Given the description of an element on the screen output the (x, y) to click on. 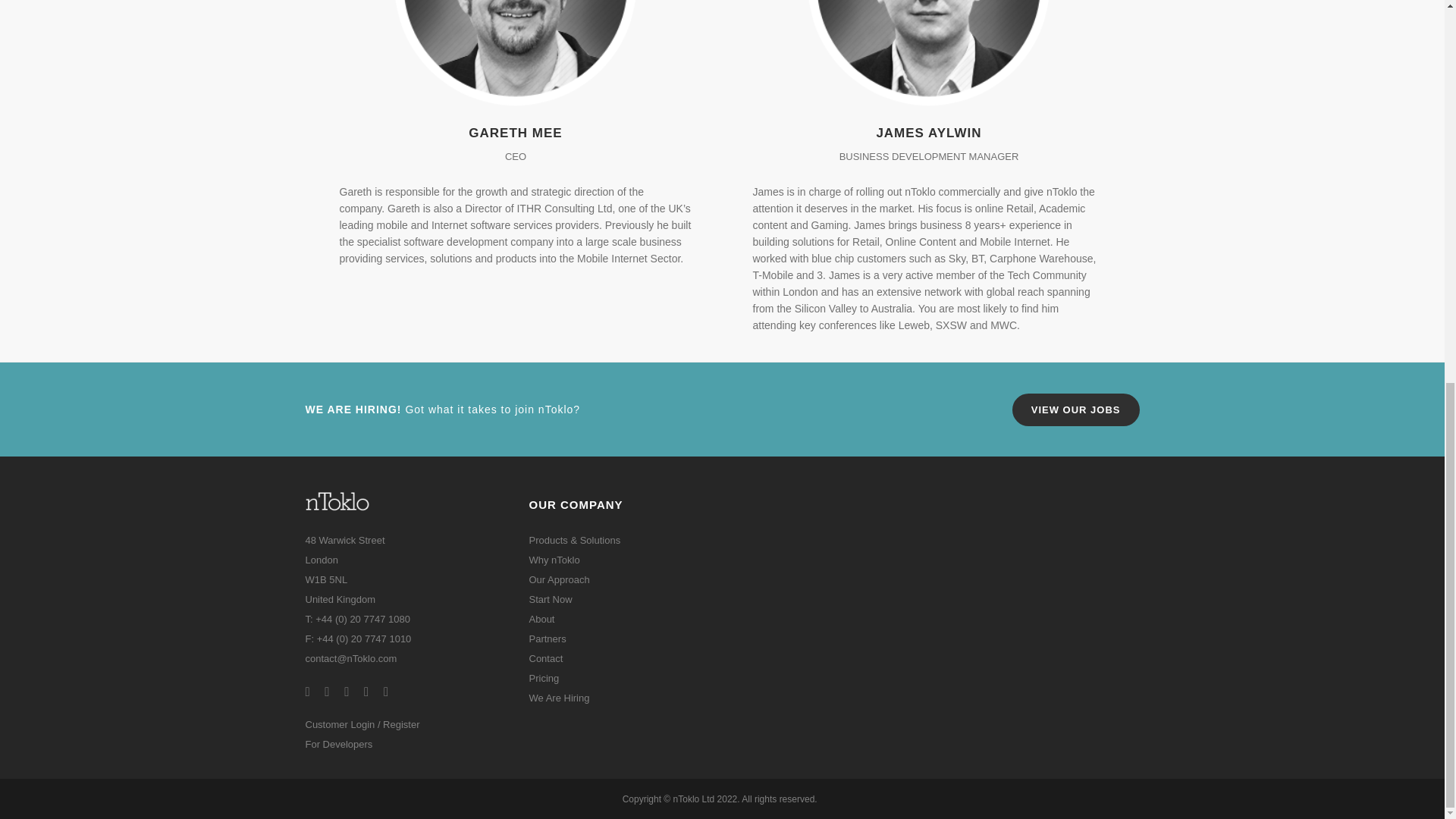
For Developers (338, 28)
VIEW OUR JOBS (1075, 409)
